Given the description of an element on the screen output the (x, y) to click on. 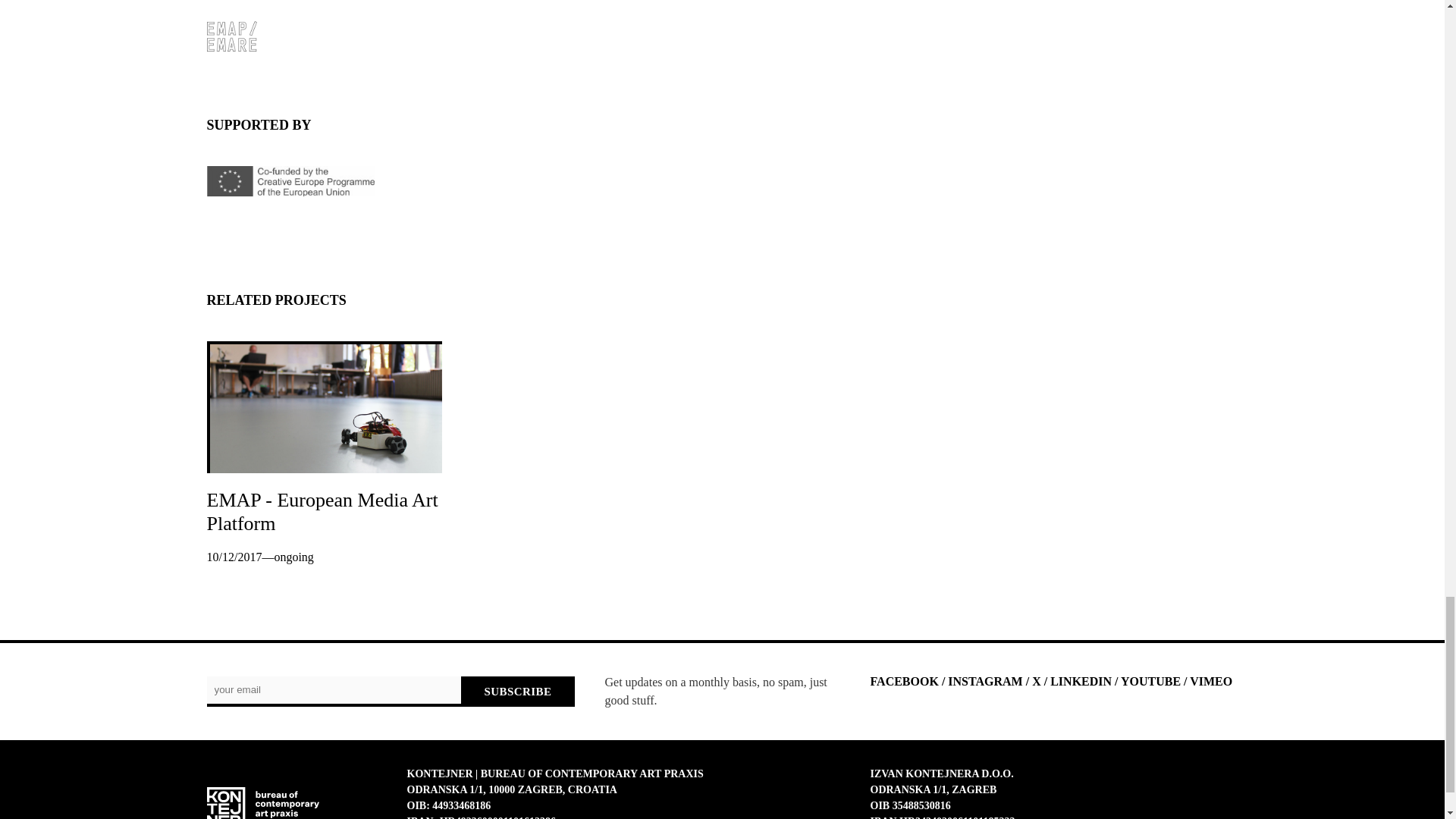
EMAP - European Media Art Platform (322, 511)
LINKEDIN (1080, 680)
INSTAGRAM (984, 680)
Subscribe (517, 691)
YOUTUBE (1150, 680)
Subscribe (517, 691)
FACEBOOK (904, 680)
